Given the description of an element on the screen output the (x, y) to click on. 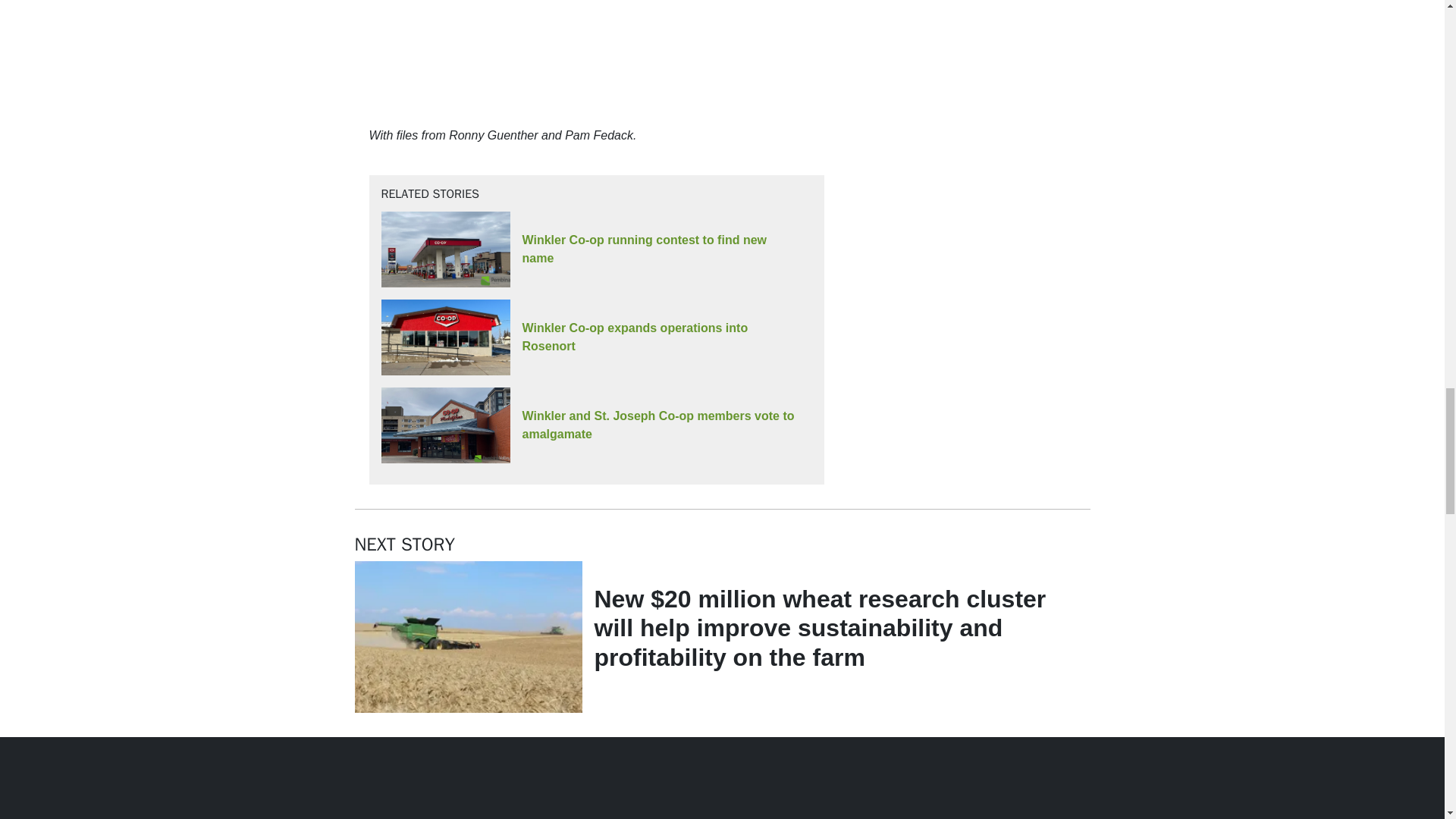
YouTube video player (580, 54)
